Given the description of an element on the screen output the (x, y) to click on. 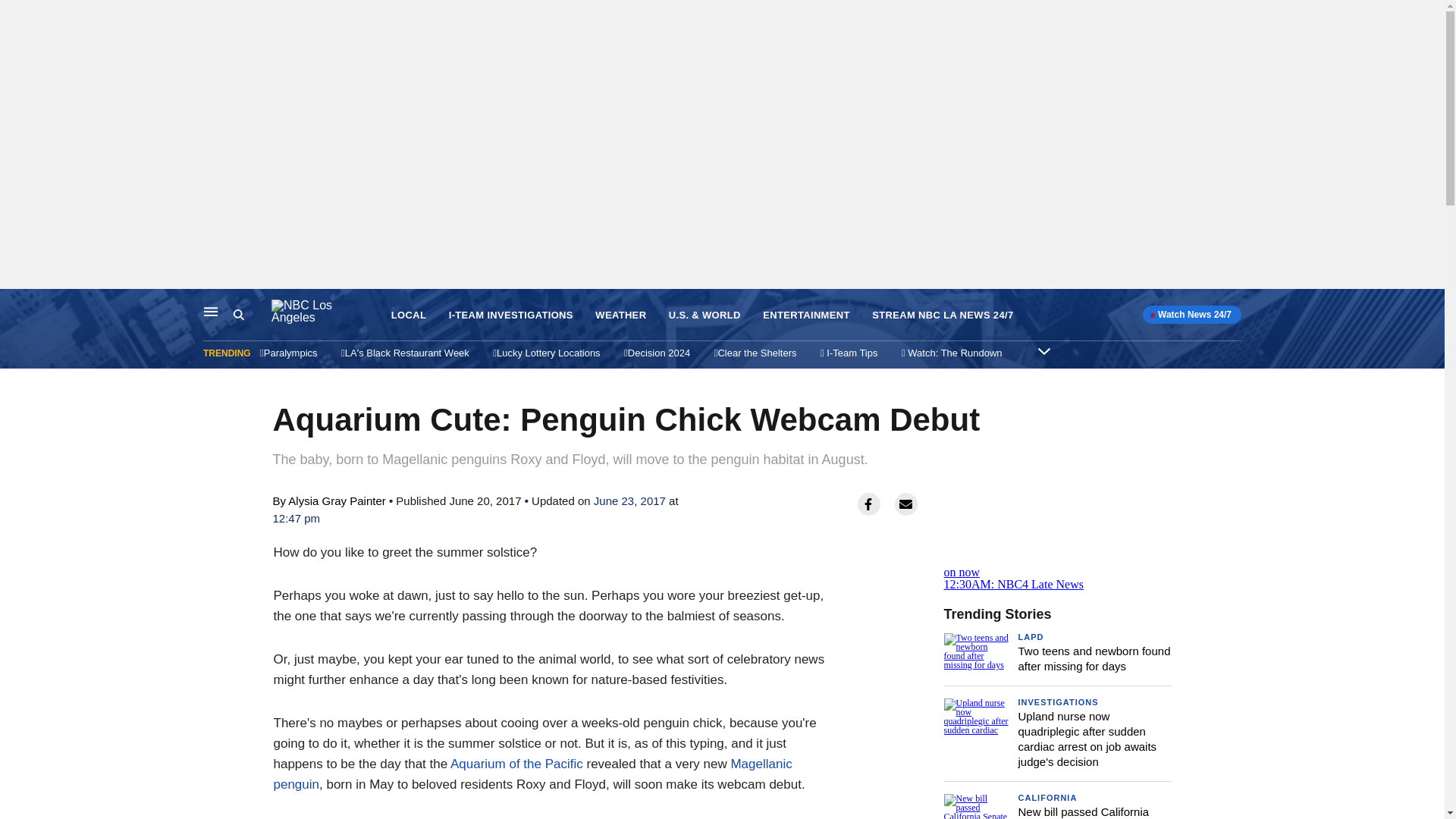
Search (1056, 566)
ENTERTAINMENT (252, 314)
Two teens and newborn found after missing for days (806, 315)
I-TEAM INVESTIGATIONS (1093, 658)
LAPD (510, 315)
LOCAL (1030, 636)
Expand (408, 315)
Skip to content (1043, 350)
